Given the description of an element on the screen output the (x, y) to click on. 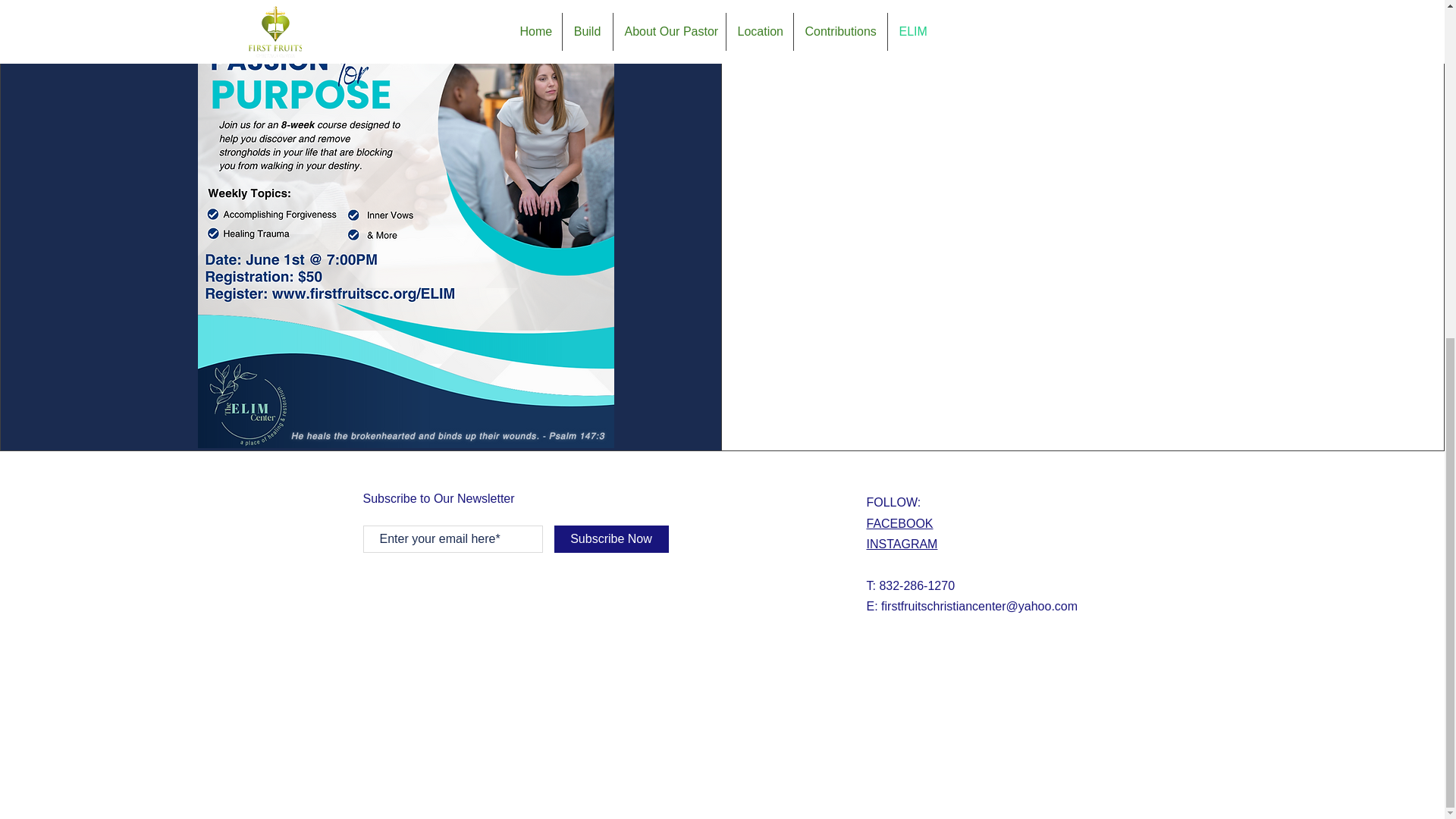
FACEBOOK (899, 522)
Subscribe Now (610, 538)
INSTAGRAM (901, 543)
